Given the description of an element on the screen output the (x, y) to click on. 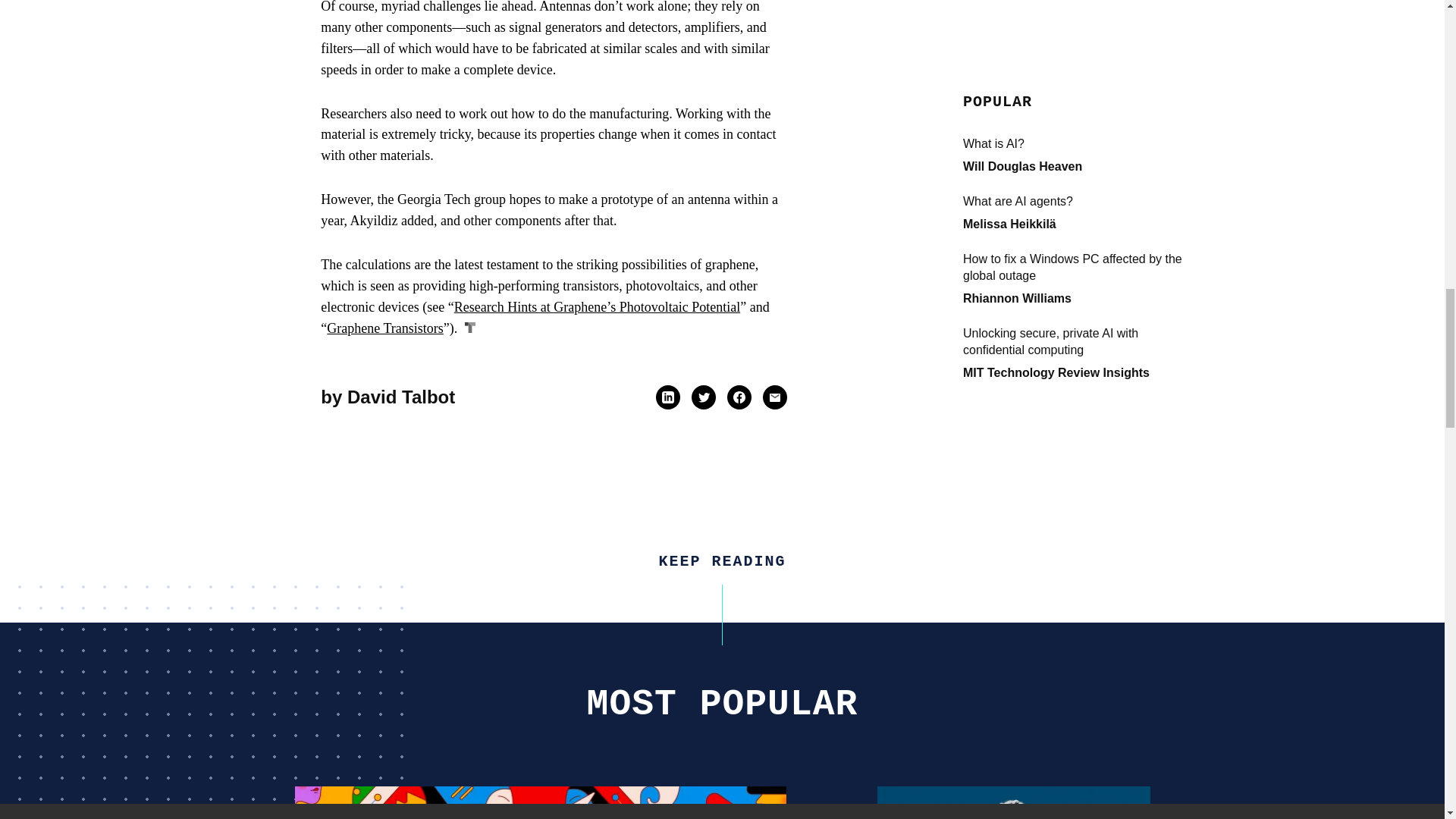
What are AI agents?  (1013, 802)
Share story on facebook (739, 397)
Share story on twitter (703, 397)
Graphene Transistors (385, 328)
Share story on email (774, 397)
David Talbot (400, 396)
What is AI? (540, 802)
Share story on linkedin (668, 397)
